Given the description of an element on the screen output the (x, y) to click on. 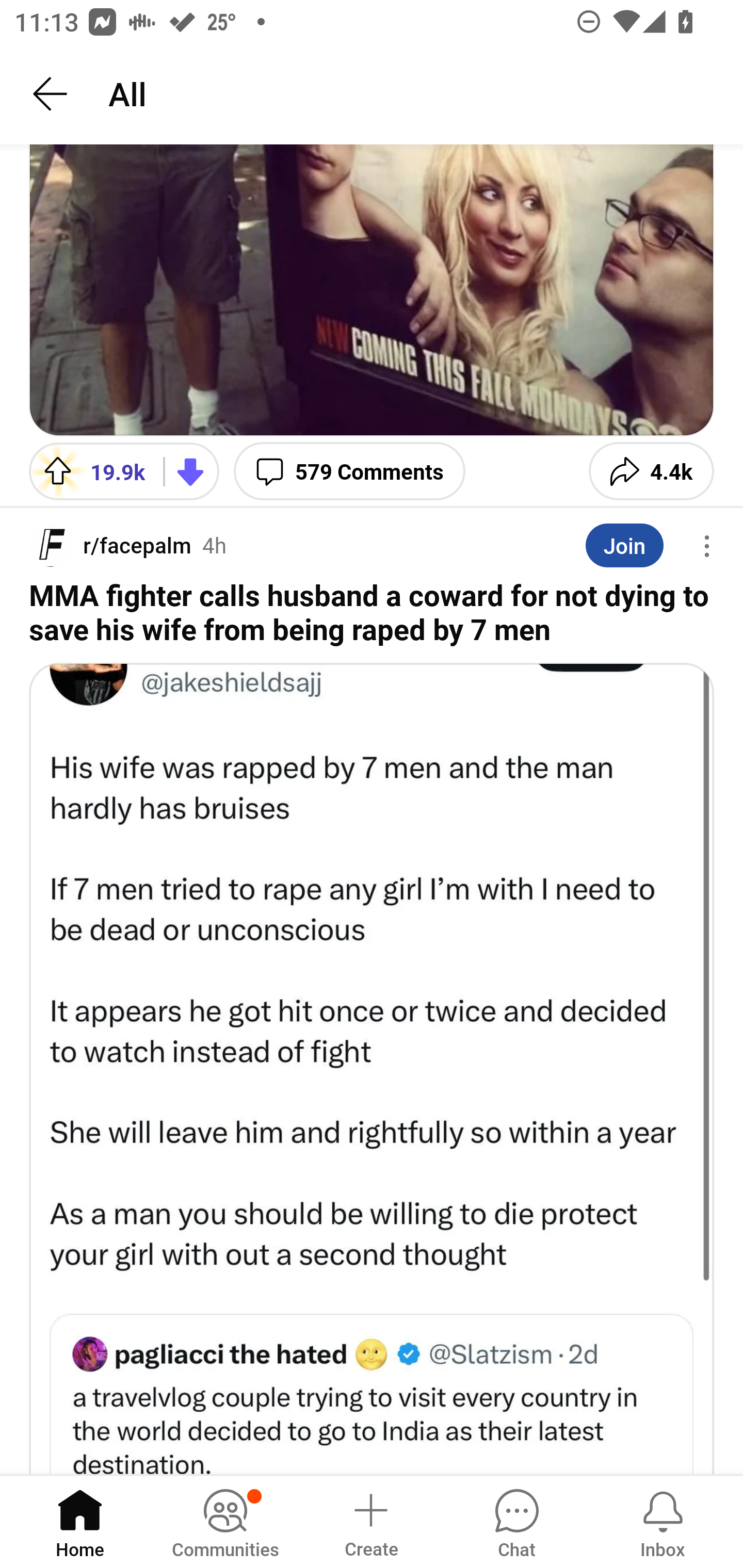
Image (371, 289)
Upvote 19.9k (88, 470)
579 Comments (349, 470)
Share 4.4k (651, 470)
Avatar r/facepalm (109, 545)
Join (624, 544)
Overflow menu (706, 546)
Image (371, 1068)
Home (80, 1520)
Communities, has notifications Communities (225, 1520)
Create a post Create (370, 1520)
Chat (516, 1520)
Inbox (662, 1520)
